Given the description of an element on the screen output the (x, y) to click on. 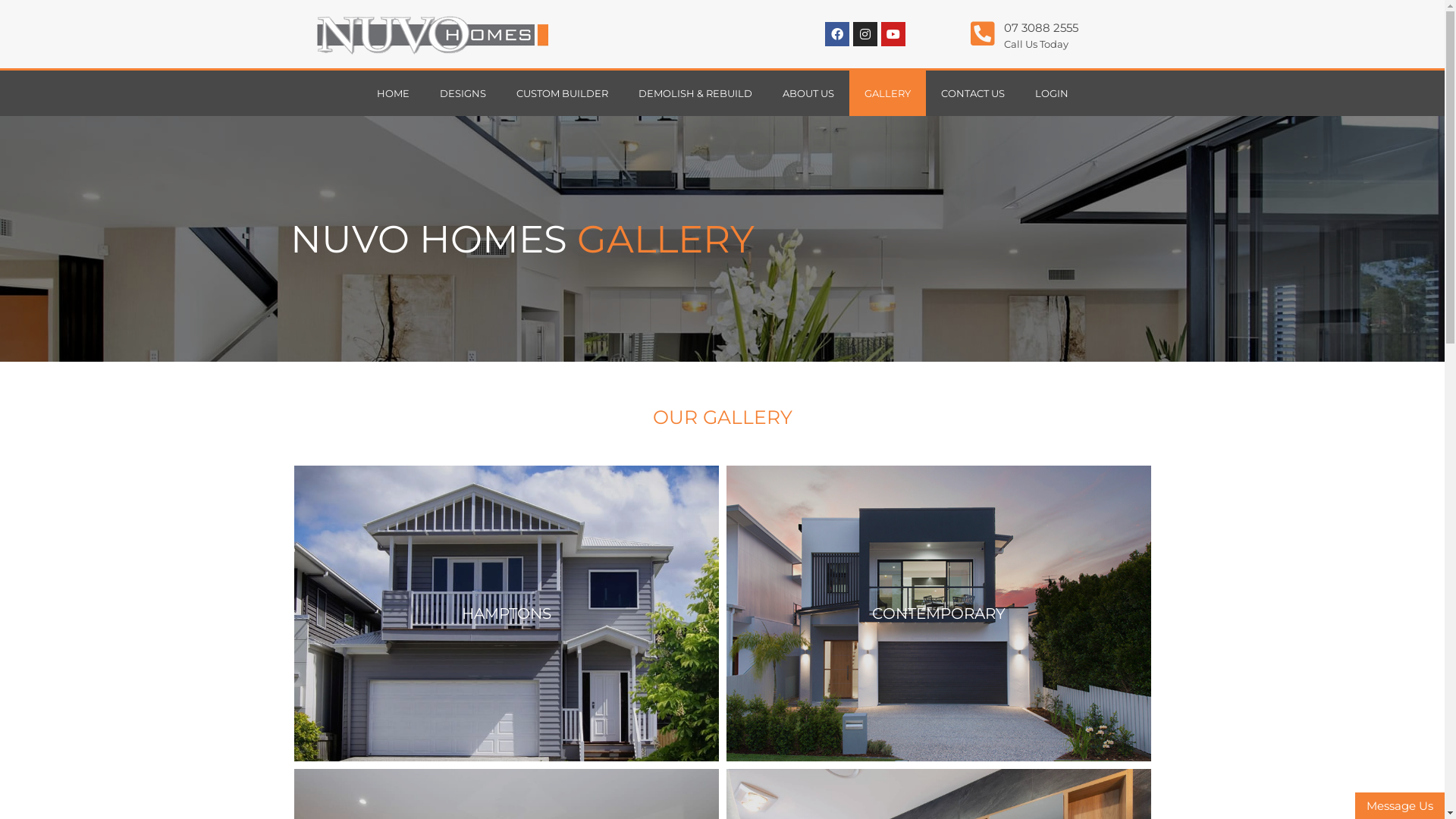
DEMOLISH & REBUILD Element type: text (695, 93)
GALLERY Element type: text (887, 93)
HOME Element type: text (391, 93)
LOGIN Element type: text (1050, 93)
CONTACT US Element type: text (972, 93)
CUSTOM BUILDER Element type: text (561, 93)
ABOUT US Element type: text (808, 93)
07 3088 2555 Element type: text (1041, 27)
DESIGNS Element type: text (462, 93)
